Given the description of an element on the screen output the (x, y) to click on. 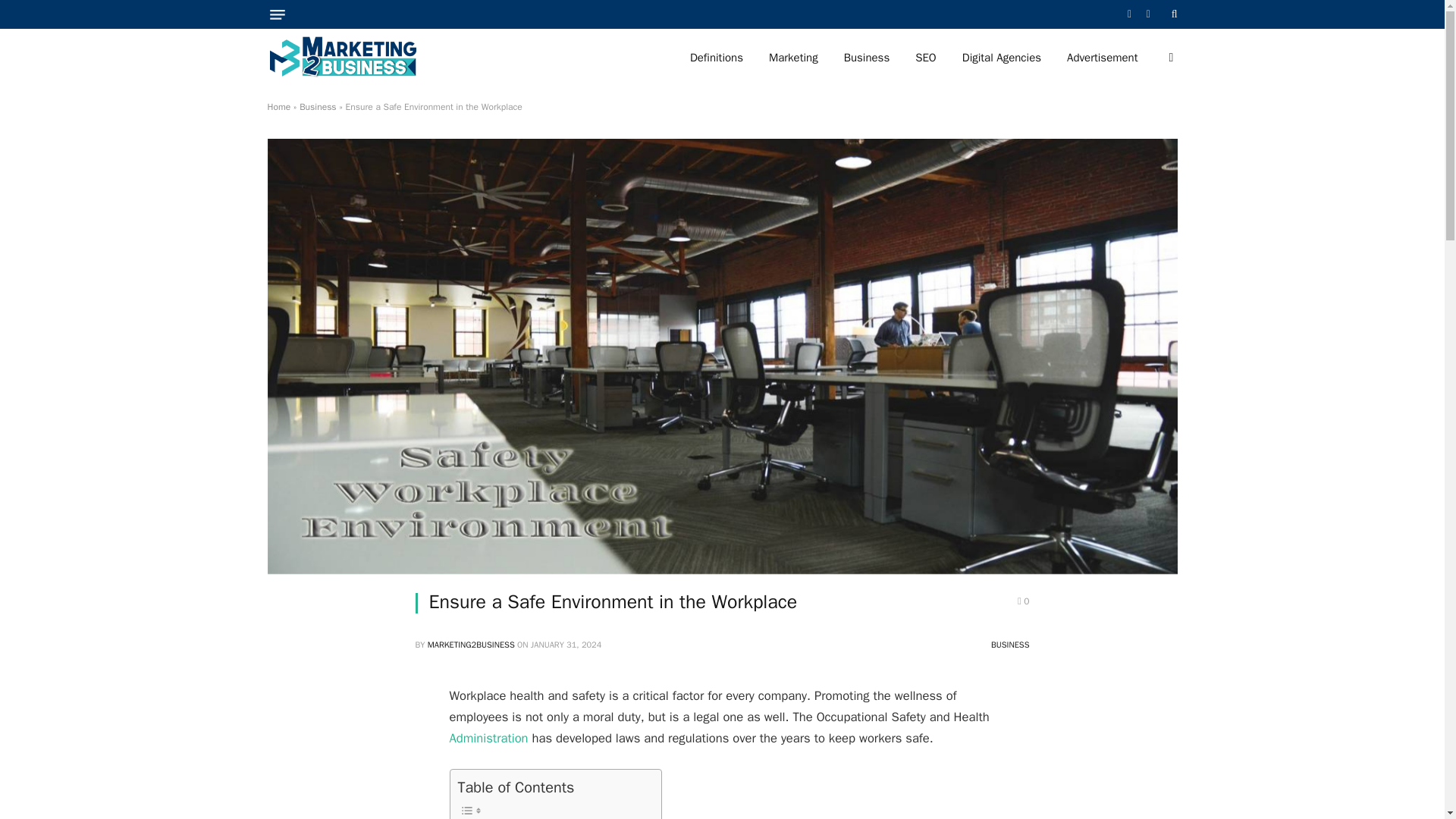
Business (866, 57)
Administration (487, 738)
Digital Agencies (1001, 57)
2024-01-31 (566, 644)
BUSINESS (1010, 644)
Business (317, 106)
MARKETING2BUSINESS (471, 644)
Posts by marketing2business (471, 644)
Advertisement (1102, 57)
